Given the description of an element on the screen output the (x, y) to click on. 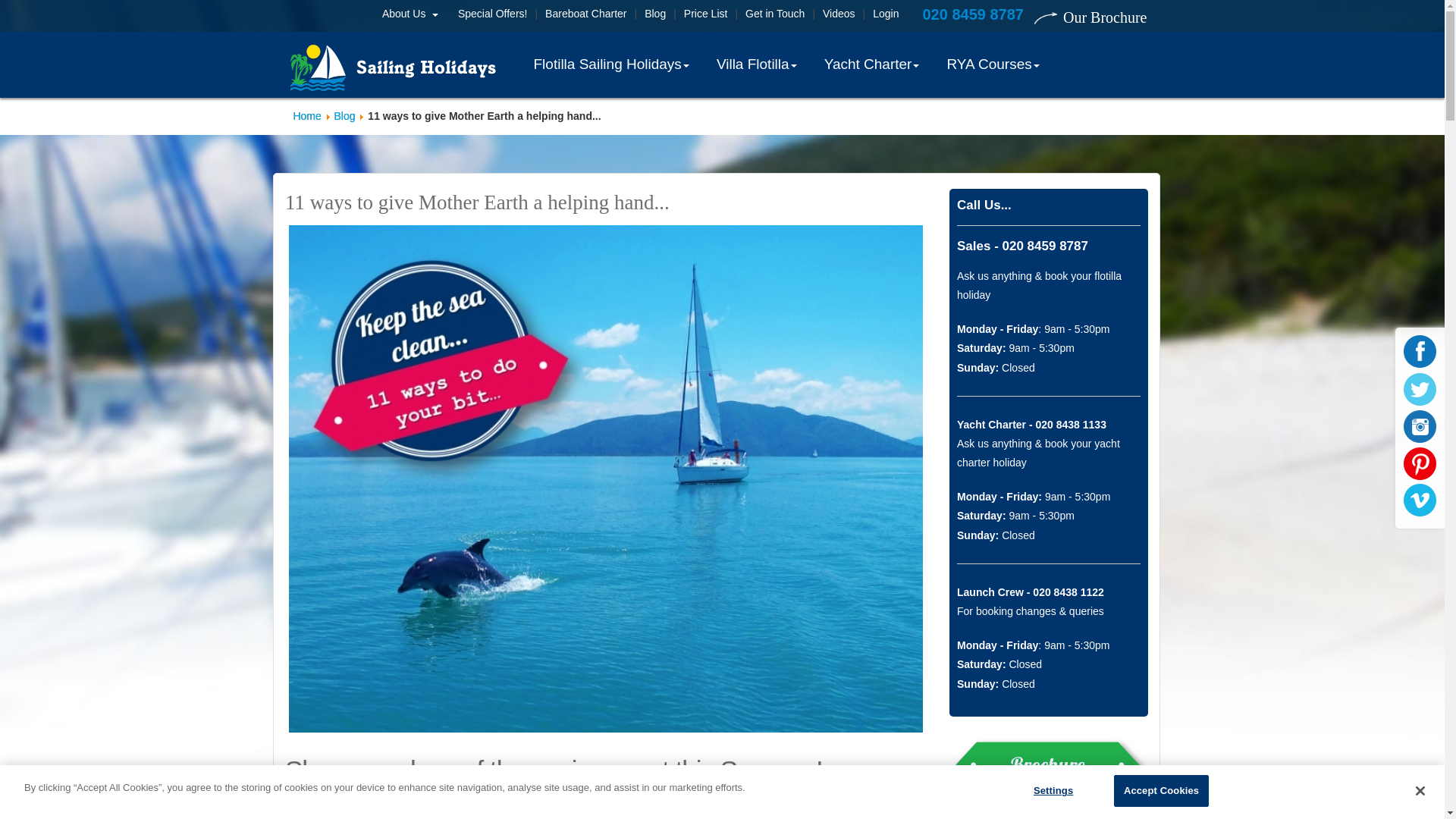
Price List (706, 13)
Blog (654, 13)
Videos (839, 13)
Login (884, 13)
About Us (414, 17)
Get in Touch (775, 13)
Vimeo (1420, 500)
020 8459 8787 (972, 14)
Special Offers! (492, 13)
Sailing Holidays (392, 66)
Our Brochure (1092, 17)
call us! (972, 14)
Twitter (1420, 388)
Facebook (1420, 351)
Bareboat Charter (585, 13)
